Given the description of an element on the screen output the (x, y) to click on. 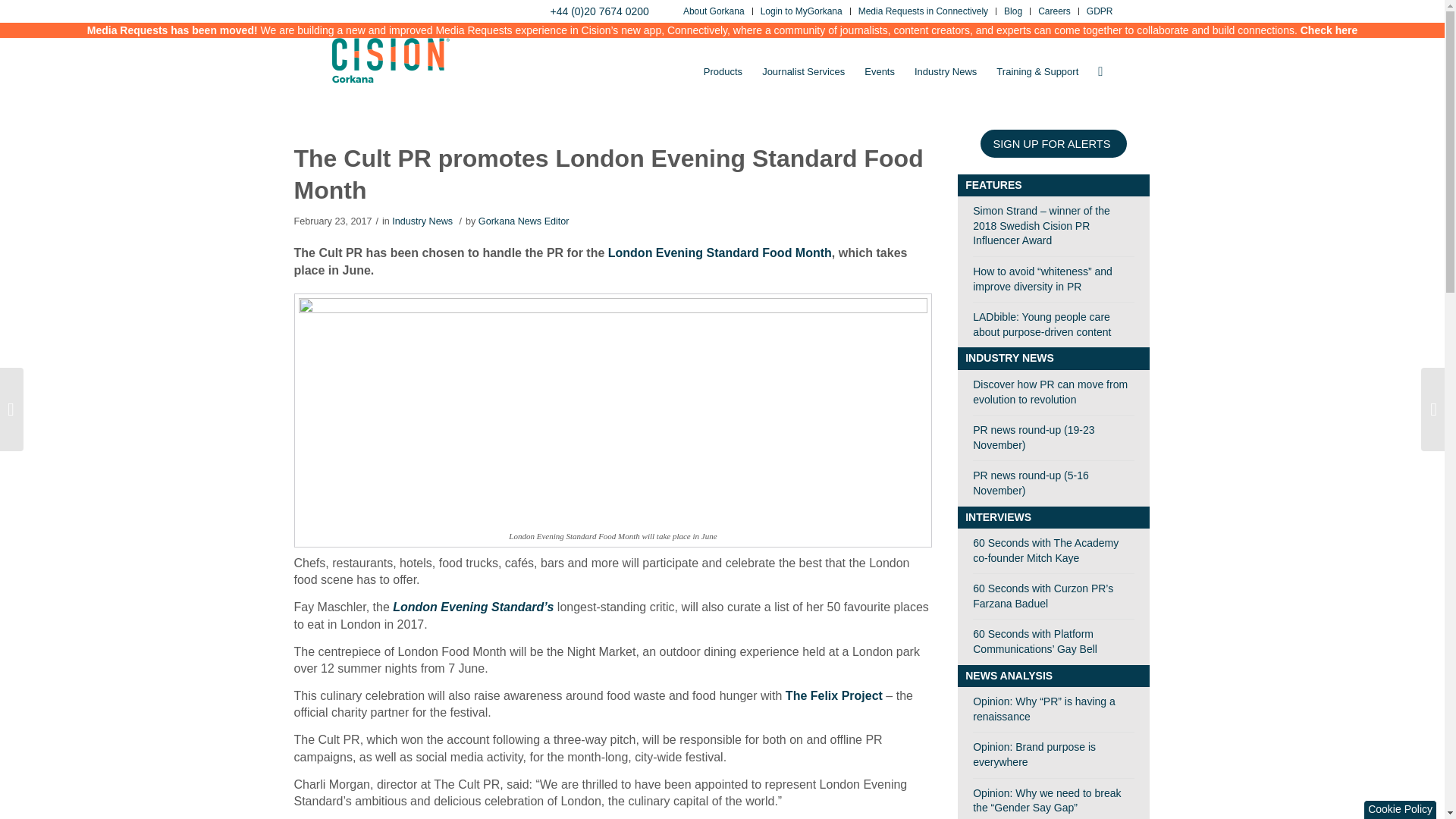
Posts by Gorkana News Editor (524, 221)
Careers (1054, 12)
Media Requests in Connectively (923, 12)
GDPR (1099, 12)
About Gorkana (713, 12)
Journalist Services (803, 71)
Industry News (945, 71)
Check here (1328, 30)
Login to MyGorkana (801, 12)
The Cult PR promotes London Evening Standard Food Month (608, 173)
